Given the description of an element on the screen output the (x, y) to click on. 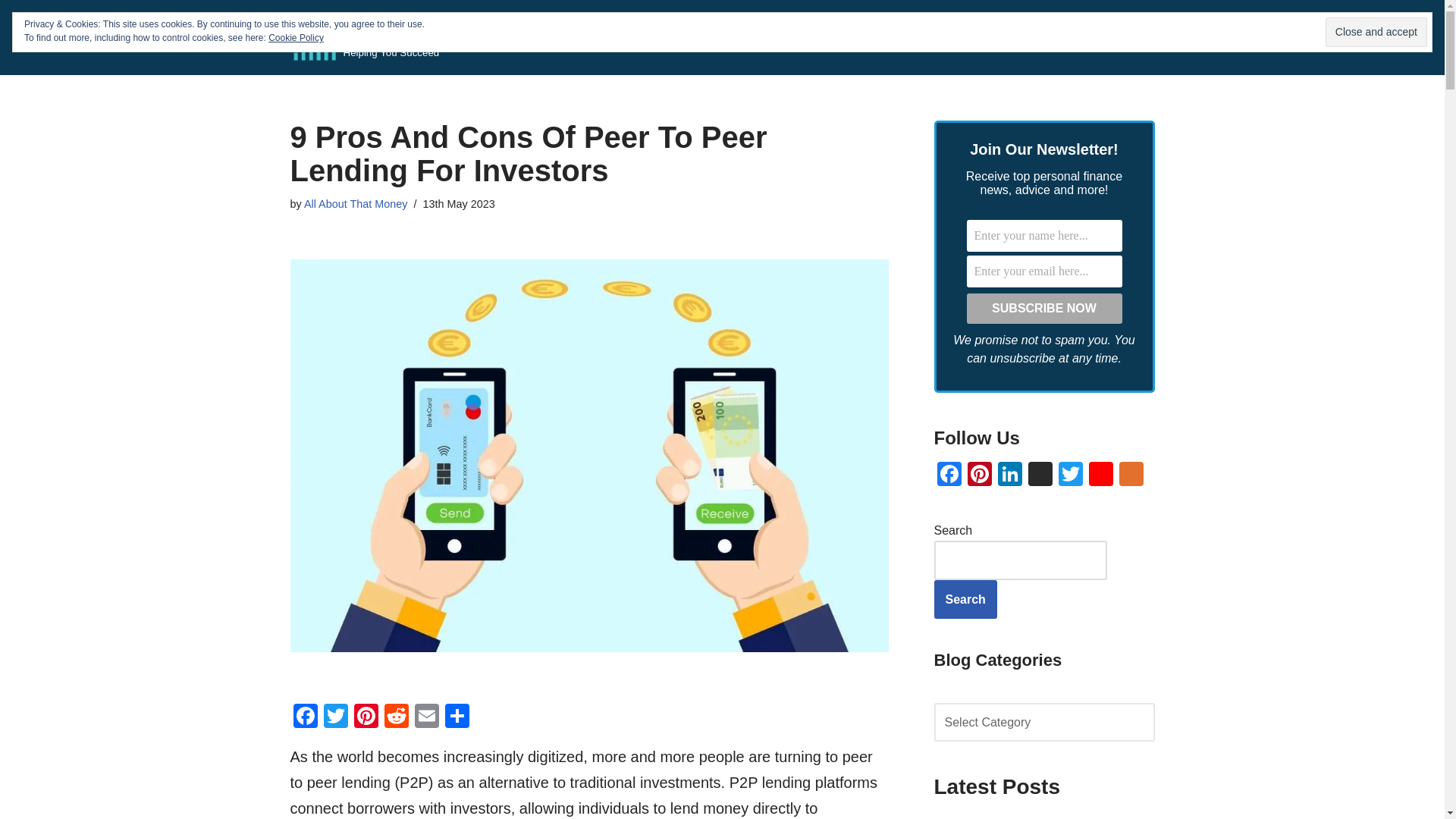
Subscribe Now (1043, 308)
Close and accept (1375, 31)
Home (575, 37)
Twitter (335, 717)
Pinterest (365, 717)
Facebook (304, 717)
Skip to content (11, 31)
Reddit (395, 717)
Email (425, 717)
Posts by All About That Money (355, 203)
Blog (409, 37)
Make Money (624, 37)
Save Money (802, 37)
